Given the description of an element on the screen output the (x, y) to click on. 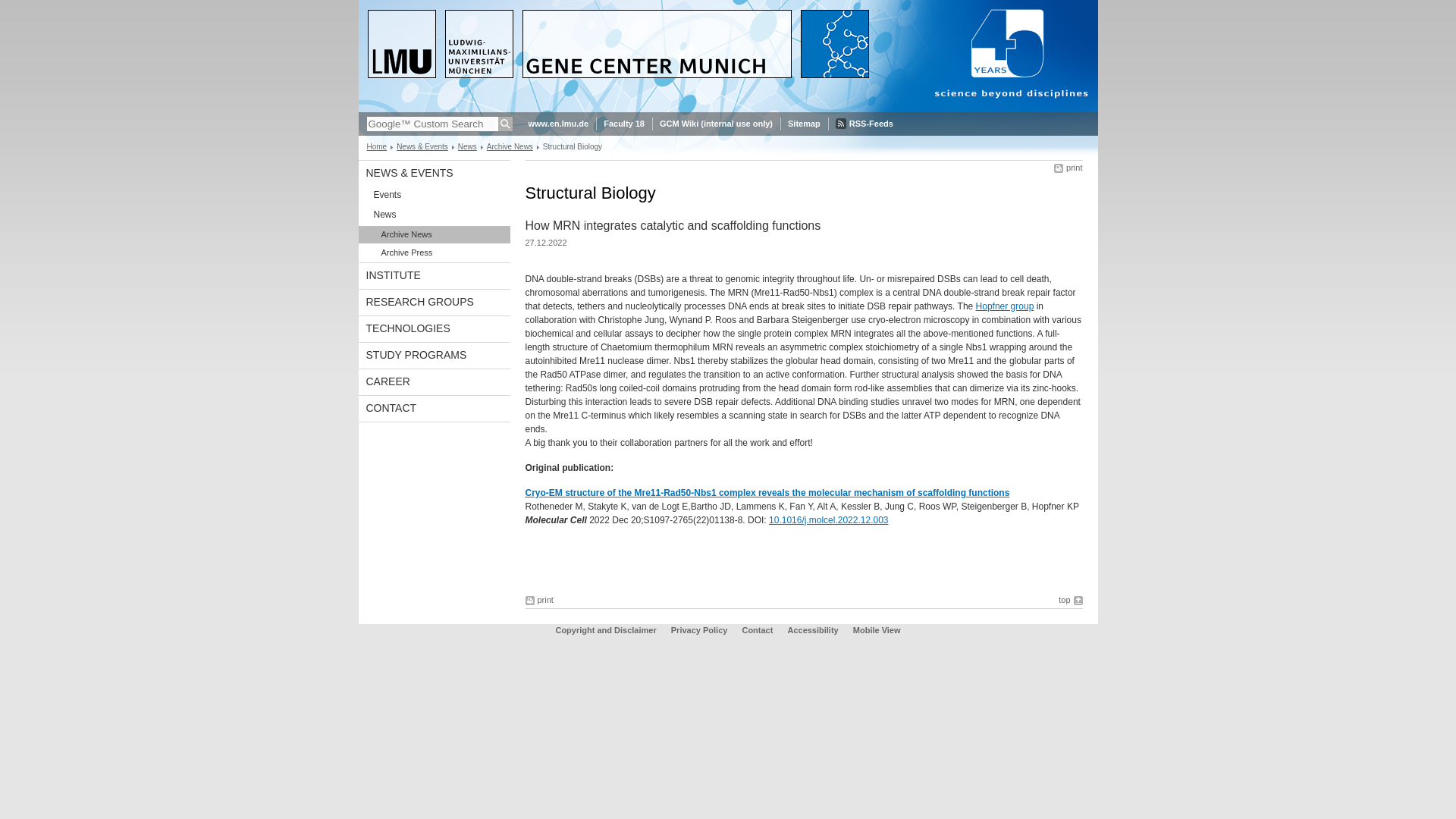
CONTACT (433, 408)
print (1067, 167)
Mobile View (877, 629)
CAREER (433, 381)
RSS-Feeds (864, 123)
Gene Center Munich (727, 109)
Search (504, 124)
News (467, 146)
INSTITUTE (433, 275)
Search (504, 124)
RSS-Feeds (864, 123)
Faculty 18 (624, 123)
print (538, 600)
Search (504, 124)
